Given the description of an element on the screen output the (x, y) to click on. 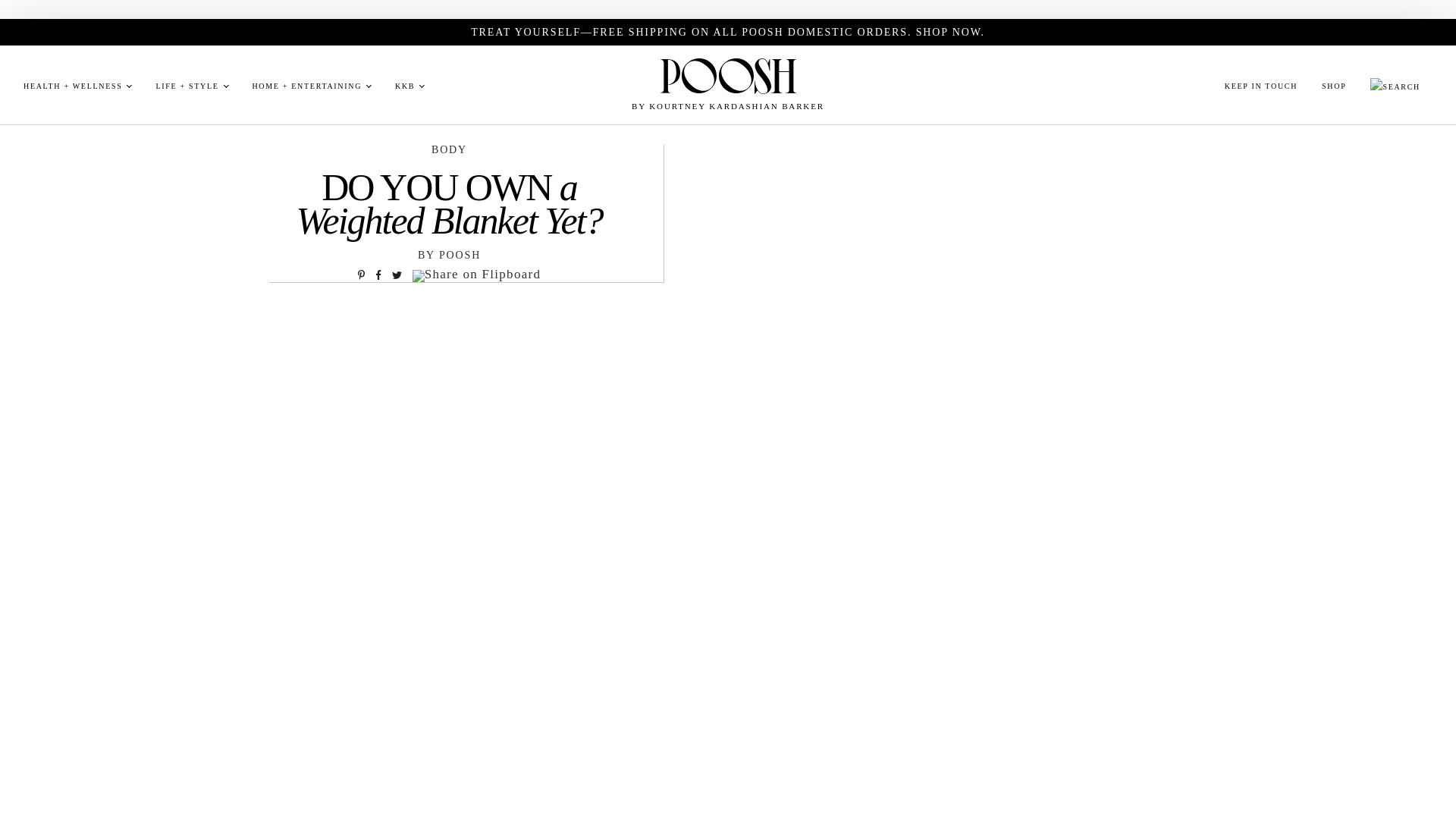
Skip to main content (67, 1)
KKB (404, 85)
KEEP IN TOUCH (1260, 85)
SHOP (1333, 85)
